Given the description of an element on the screen output the (x, y) to click on. 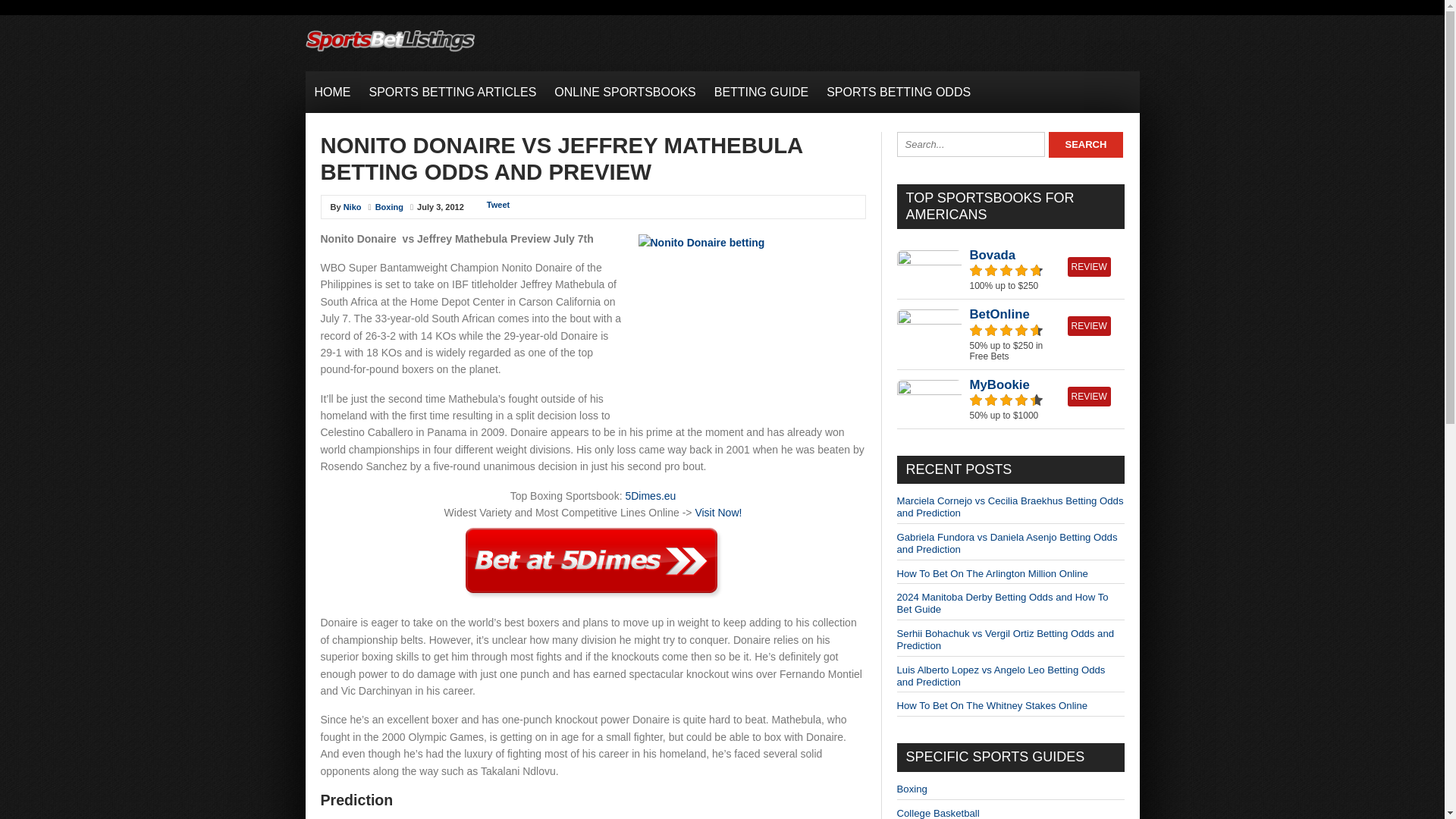
Search (1085, 144)
NCAA Basketball Betting (937, 813)
Boxing (389, 206)
Posts by Niko (352, 206)
Boxing Betting (911, 788)
Nonito Donaire (752, 319)
HOME (331, 92)
REVIEW (1088, 396)
Search (1085, 144)
Search (1085, 144)
